Given the description of an element on the screen output the (x, y) to click on. 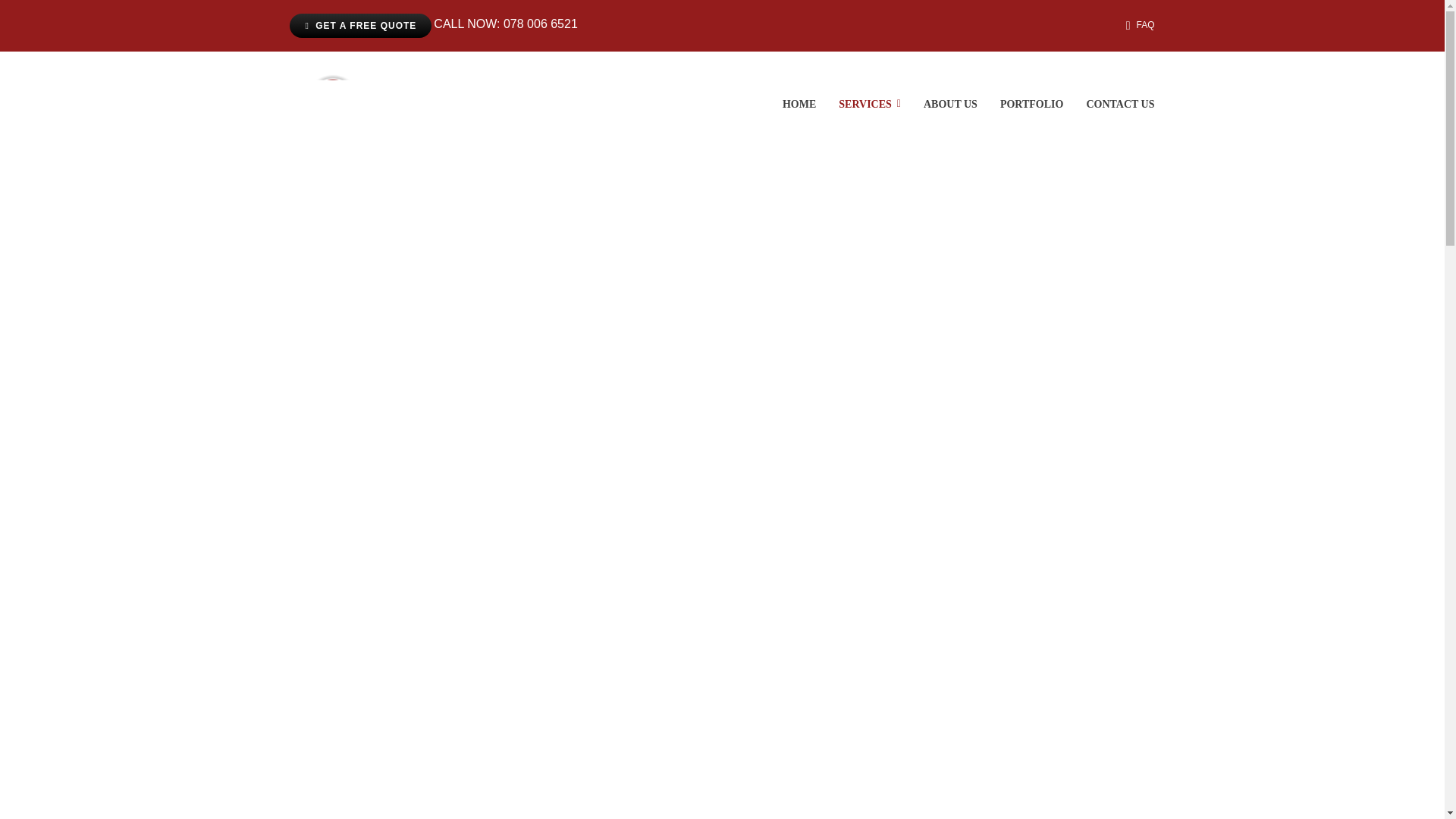
SERVICES (869, 103)
CALL NOW: 078 006 6521 (504, 25)
ABOUT US (949, 103)
PORTFOLIO (1032, 103)
GET A FREE QUOTE (359, 25)
CONTACT US (1120, 103)
FAQ (1136, 25)
